Given the description of an element on the screen output the (x, y) to click on. 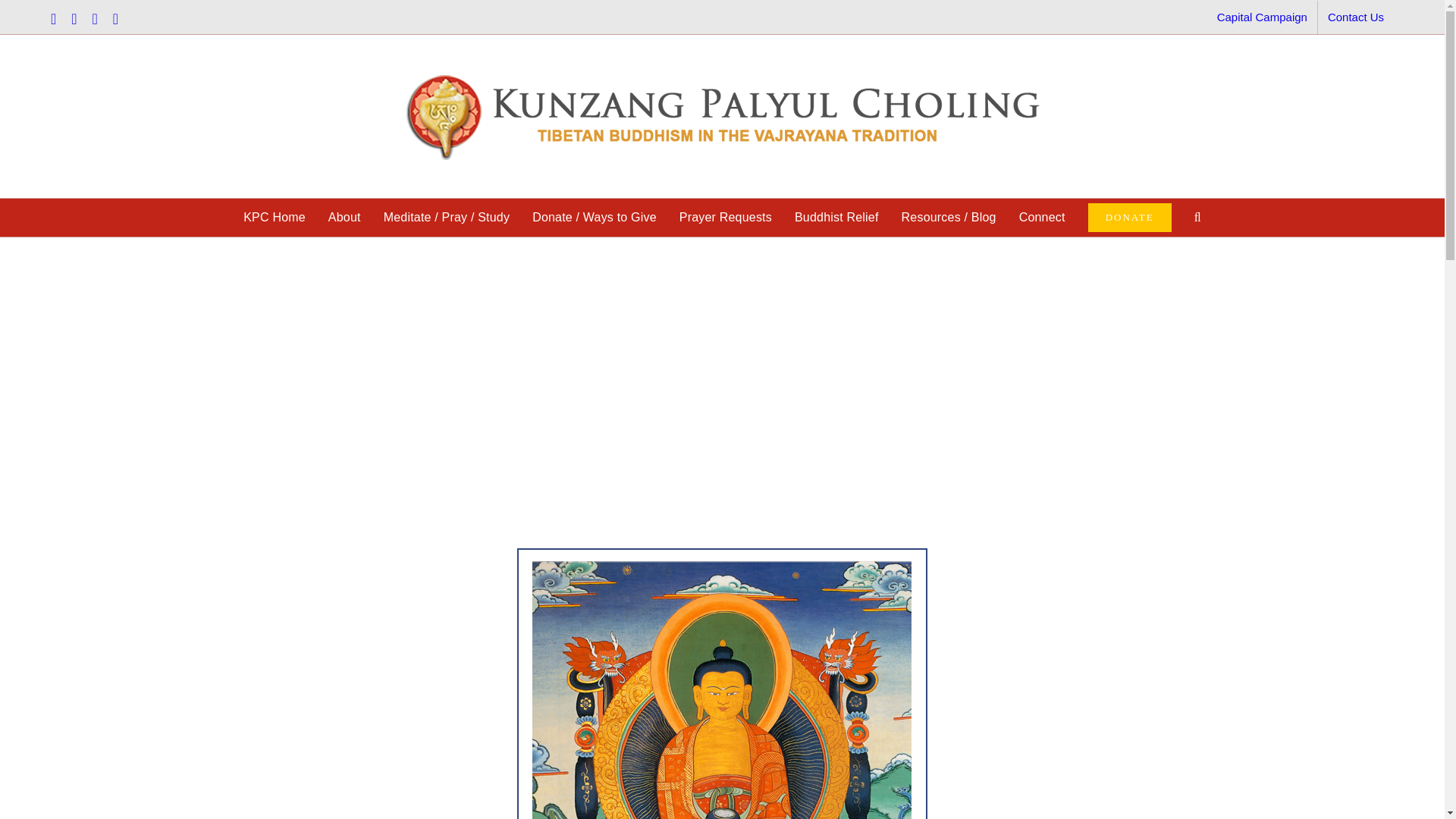
KPC Home (274, 217)
Capital Campaign (1262, 16)
Contact Us (1355, 16)
Amitabha Buddha (721, 683)
